Given the description of an element on the screen output the (x, y) to click on. 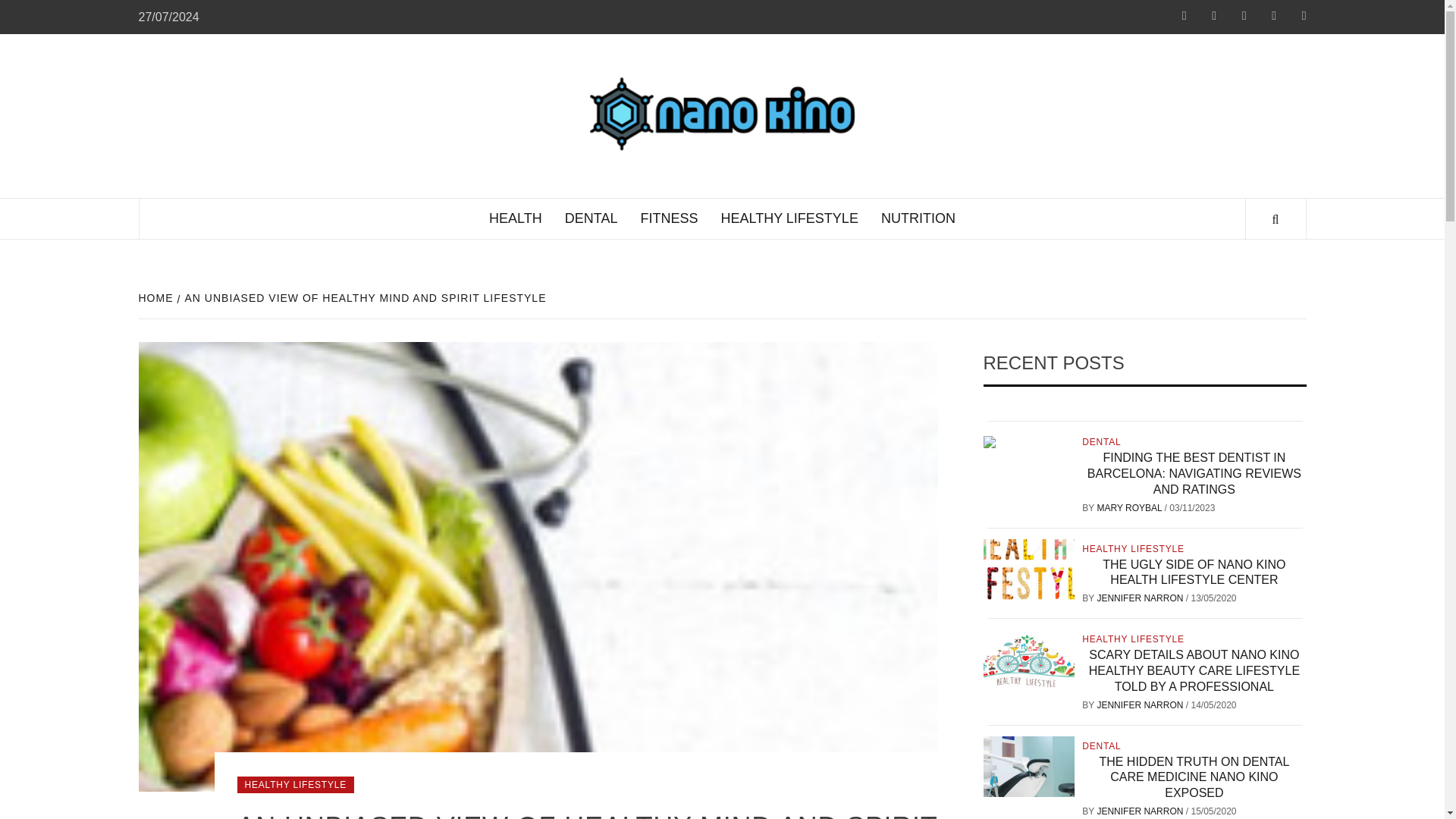
DENTAL (1102, 441)
NUTRITION (917, 219)
HEALTHY LIFESTYLE (1134, 638)
HEALTH (515, 219)
JENNIFER NARRON (1140, 705)
DENTAL (590, 219)
HEALTHY LIFESTYLE (1134, 548)
THE UGLY SIDE OF NANO KINO HEALTH LIFESTYLE CENTER (1193, 572)
FITNESS (668, 219)
NANO KINO (961, 95)
HOME (157, 297)
HEALTHY LIFESTYLE (294, 784)
